Given the description of an element on the screen output the (x, y) to click on. 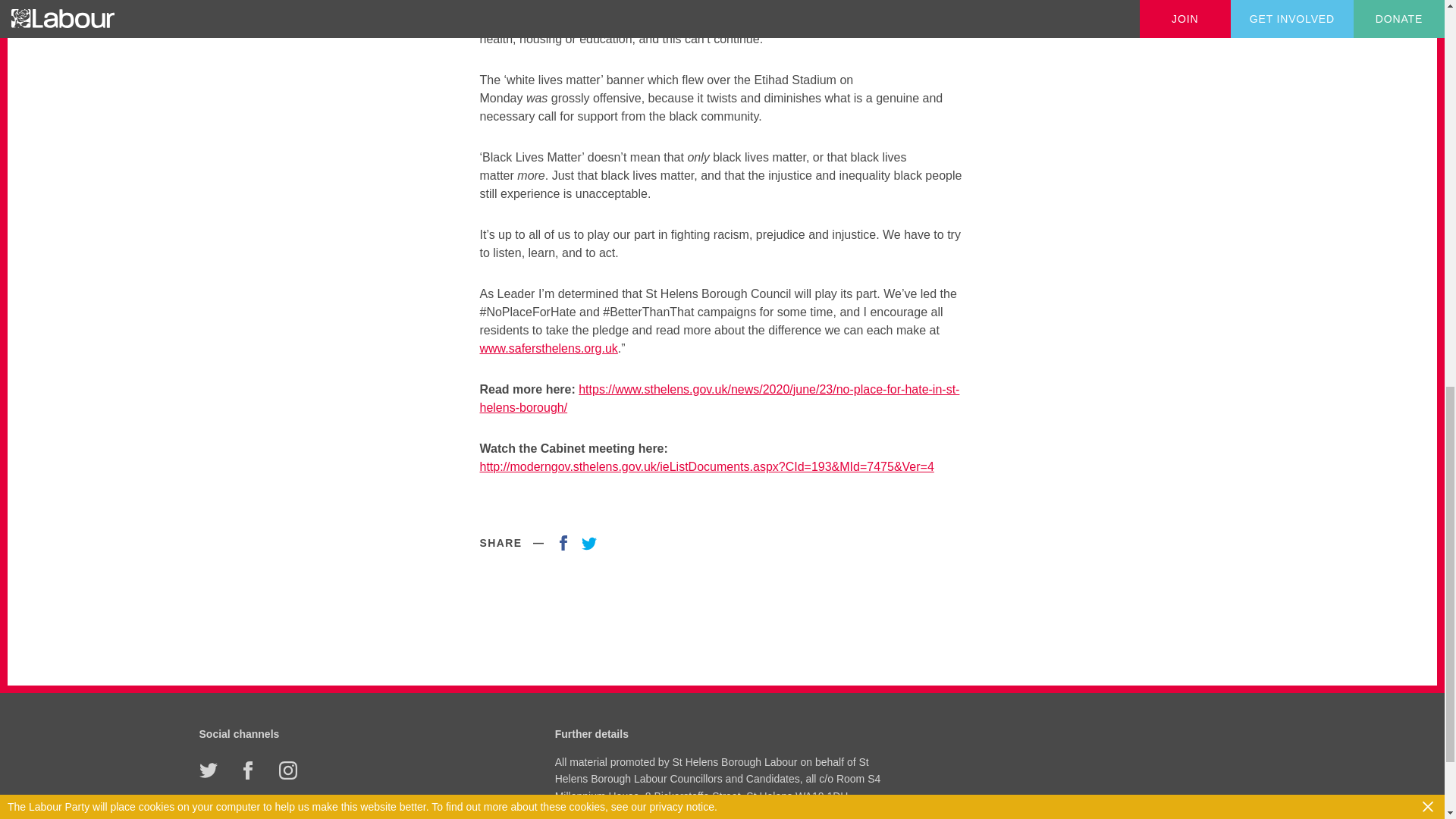
www.safersthelens.org.uk (548, 348)
